Given the description of an element on the screen output the (x, y) to click on. 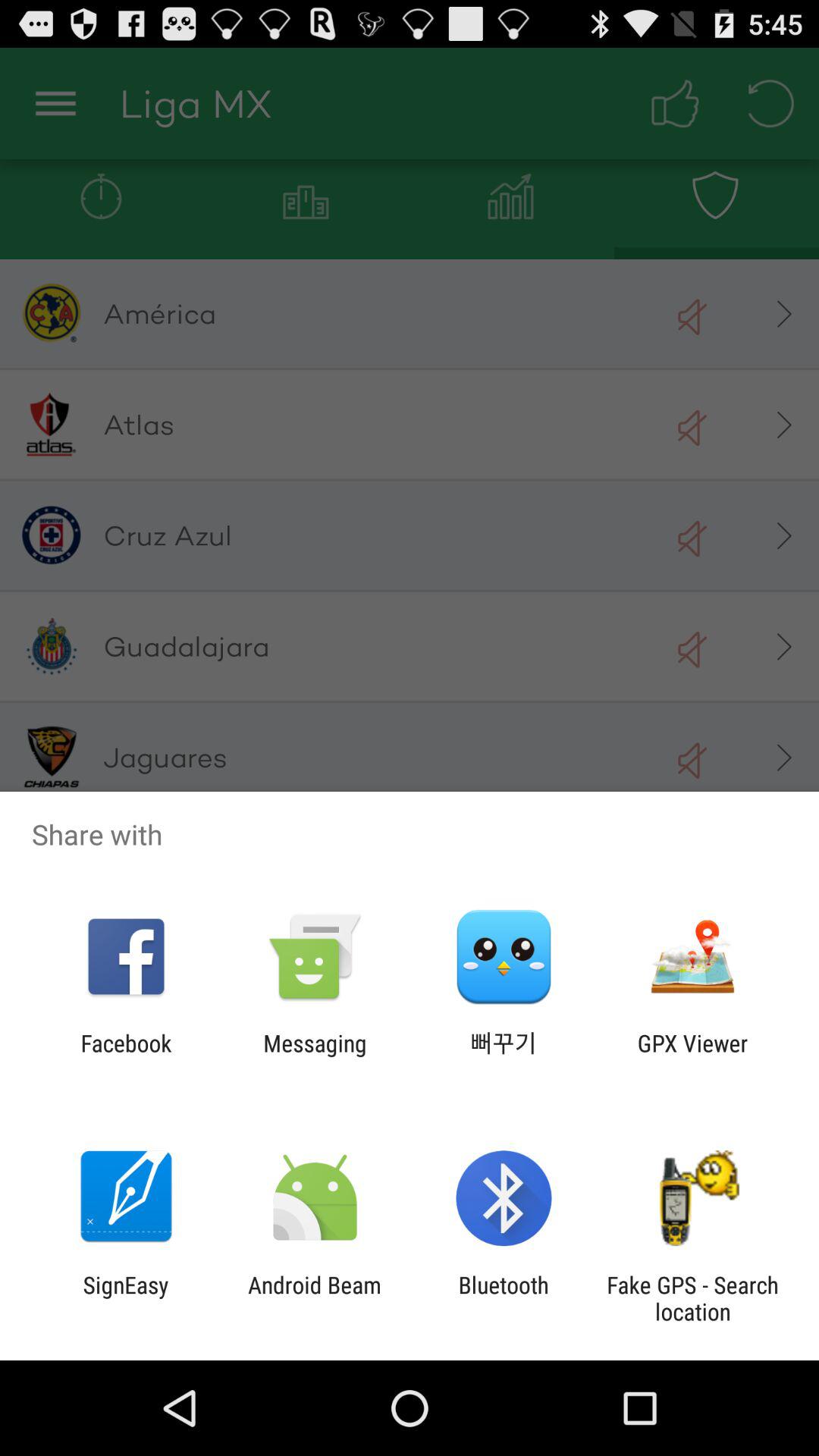
select the icon next to gpx viewer (503, 1056)
